Given the description of an element on the screen output the (x, y) to click on. 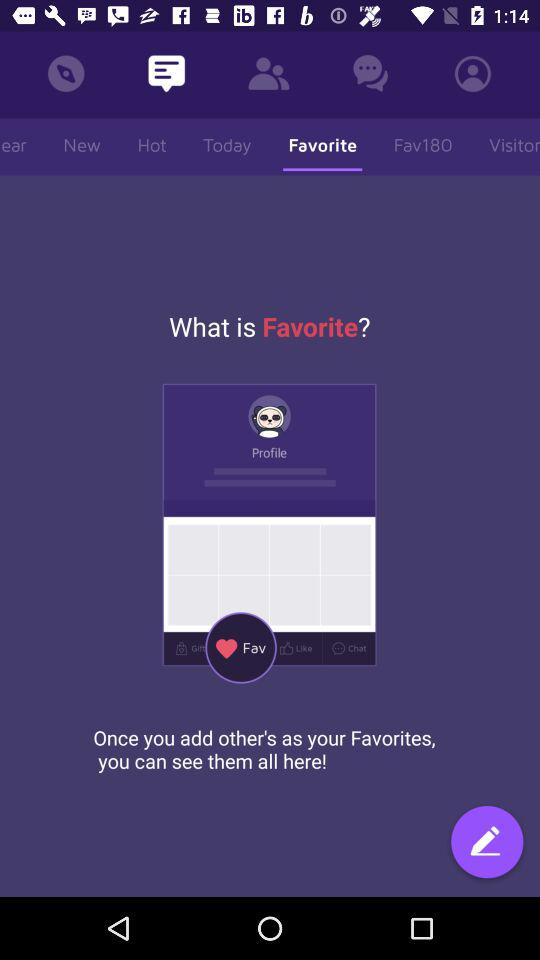
to write (487, 844)
